Given the description of an element on the screen output the (x, y) to click on. 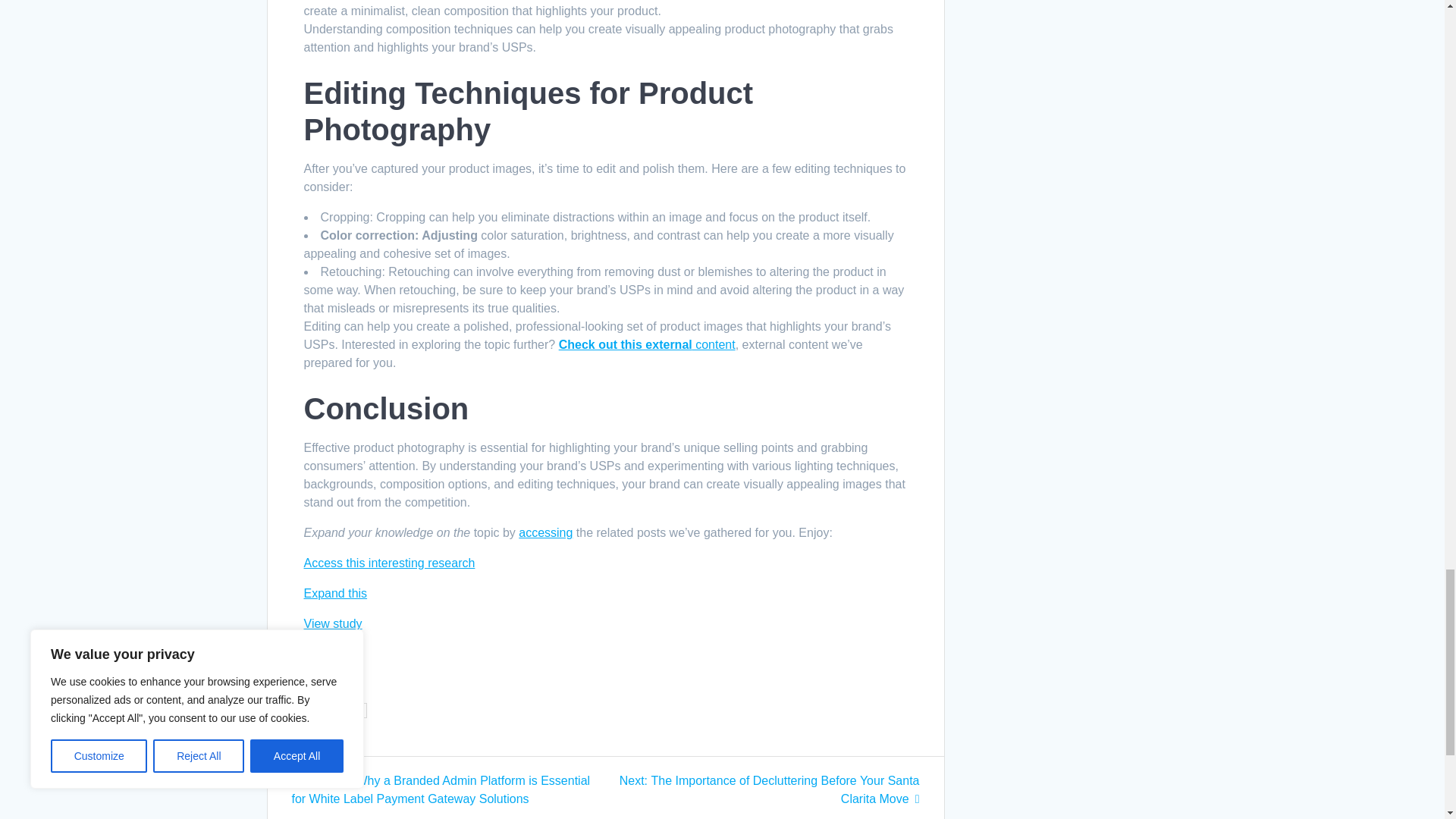
View study (331, 623)
accessing (545, 532)
Read here (330, 653)
Check out this external content (647, 344)
Access this interesting research (388, 562)
GREATER (338, 709)
Expand this (334, 593)
